Given the description of an element on the screen output the (x, y) to click on. 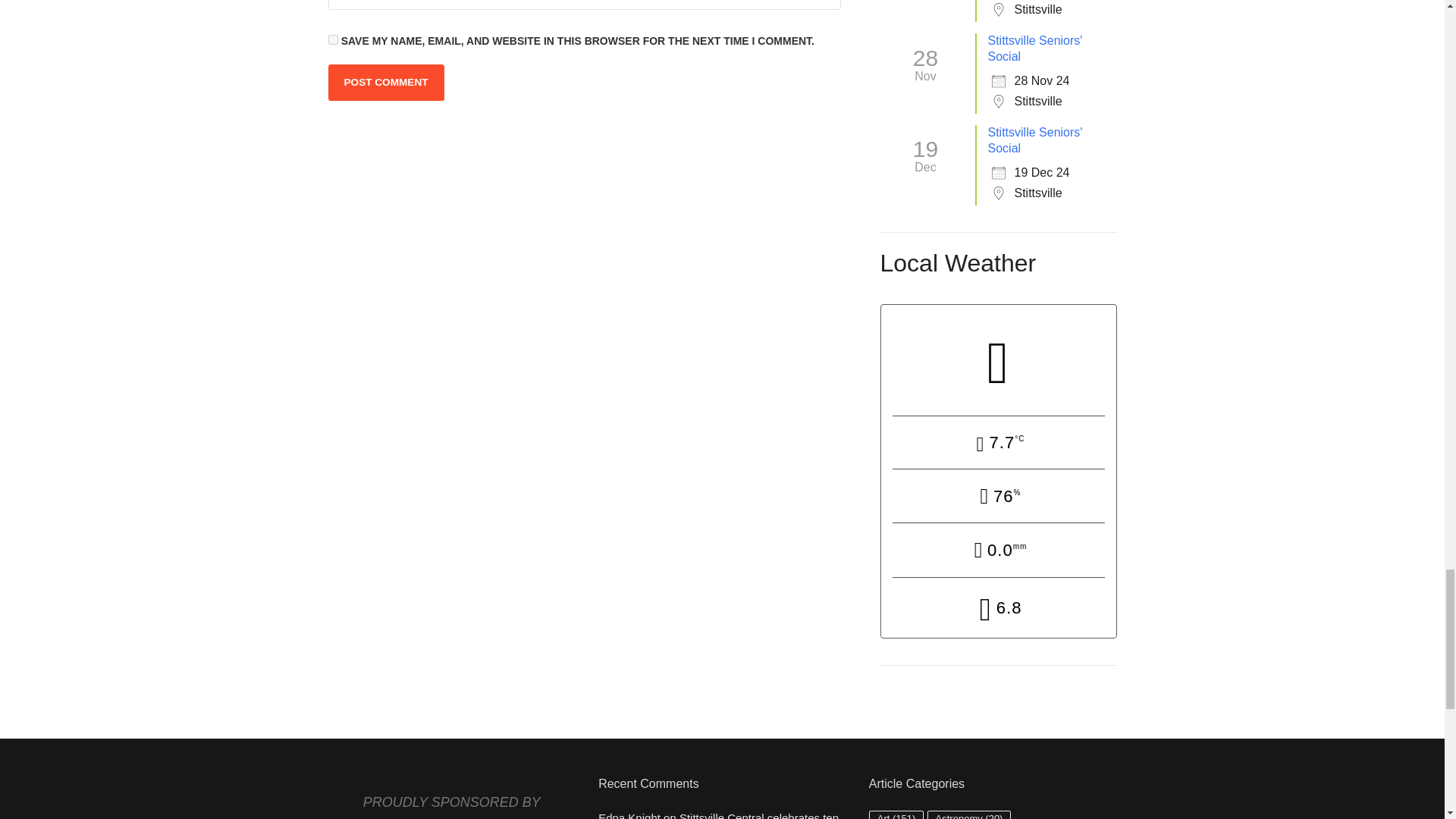
Relative humidity (998, 497)
yes (332, 40)
Temperature (998, 443)
Post Comment (385, 82)
Rainfall (998, 551)
Current weather conditions (998, 359)
Wind chill (998, 609)
